Given the description of an element on the screen output the (x, y) to click on. 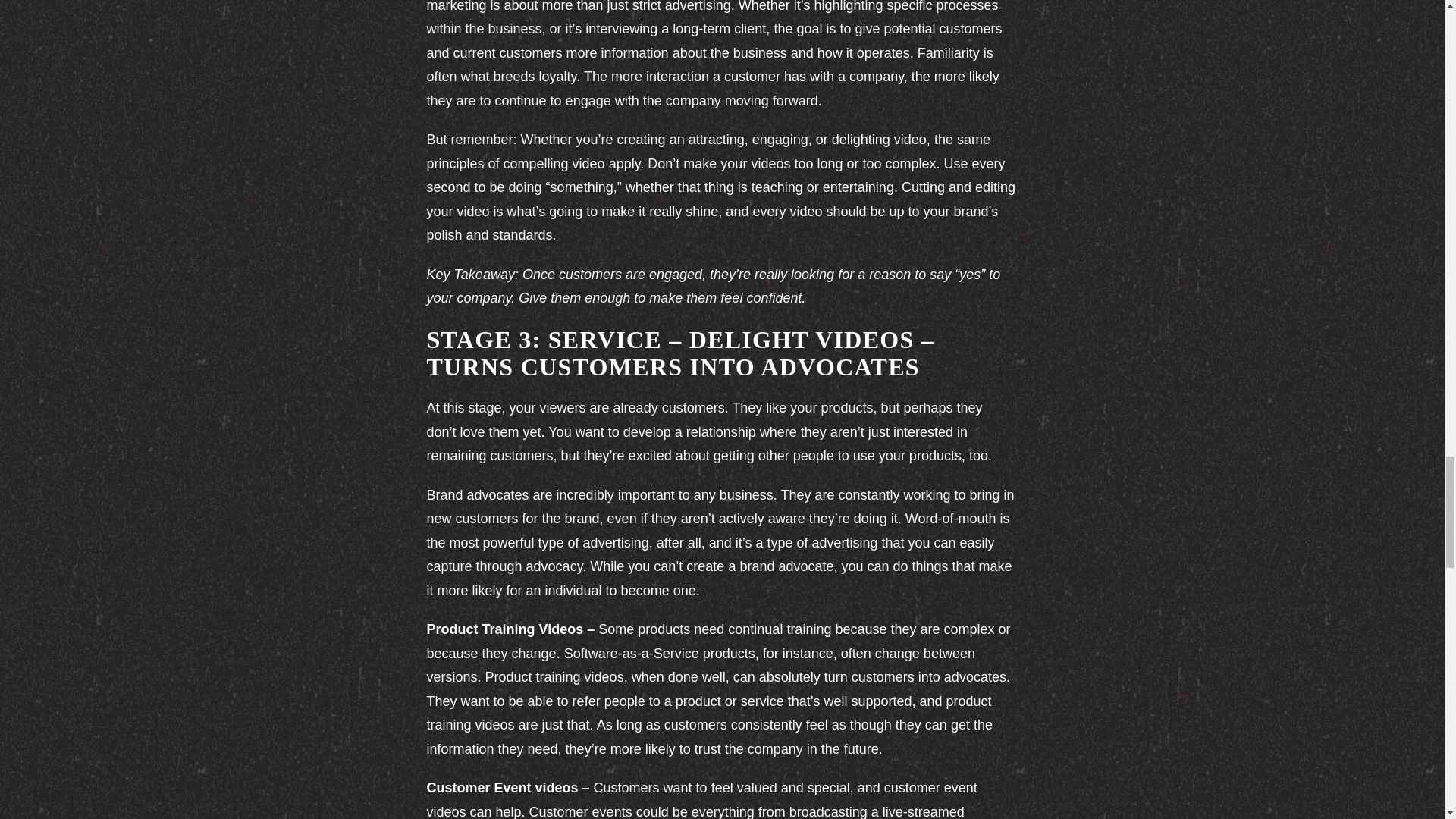
video marketing (716, 6)
